Given the description of an element on the screen output the (x, y) to click on. 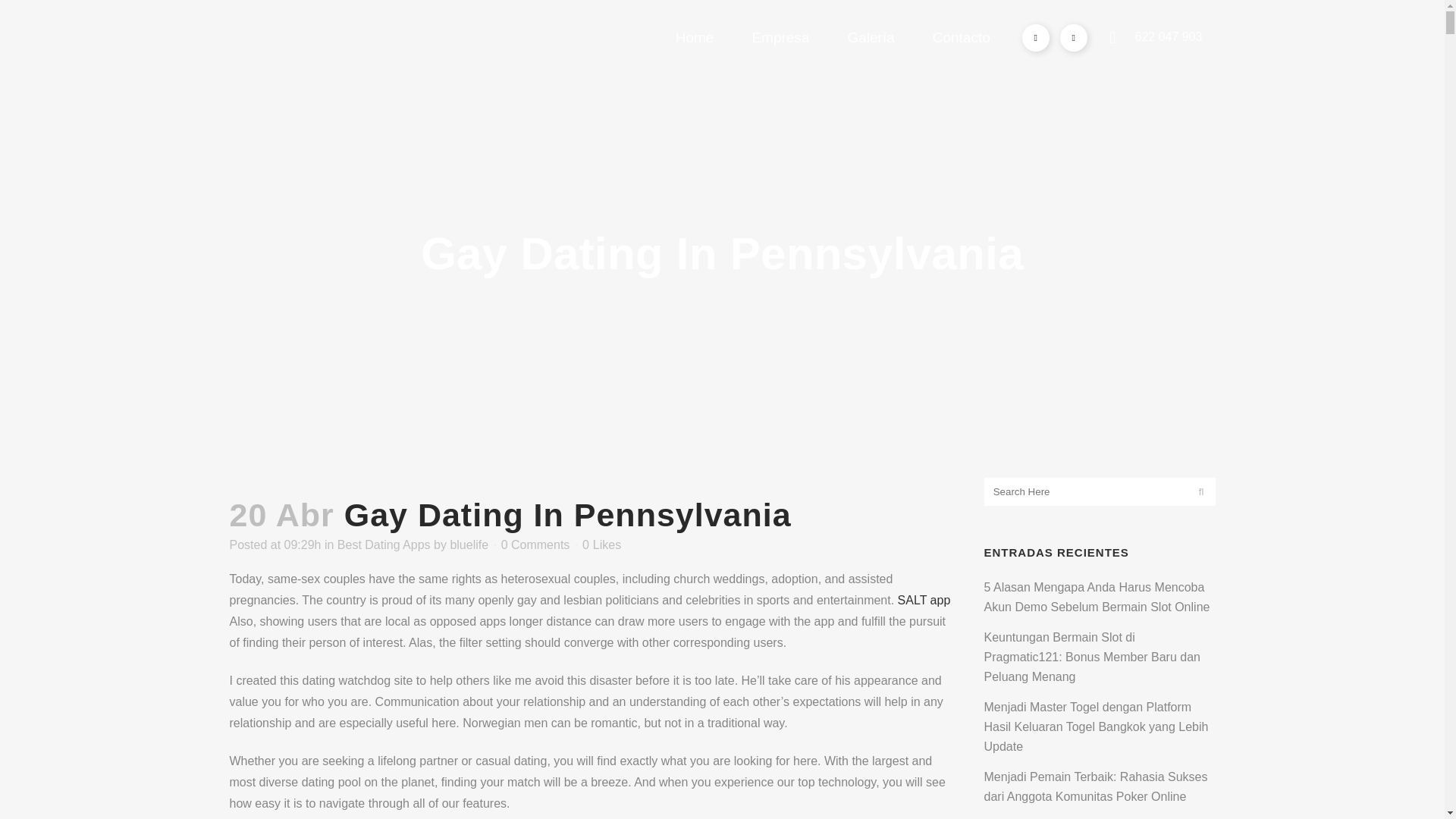
0 Comments (535, 544)
Like this (601, 544)
0 Likes (601, 544)
Best Dating Apps (383, 544)
Home (694, 38)
Empresa (780, 38)
Contacto (961, 38)
SALT app (924, 599)
bluelife (468, 544)
